Given the description of an element on the screen output the (x, y) to click on. 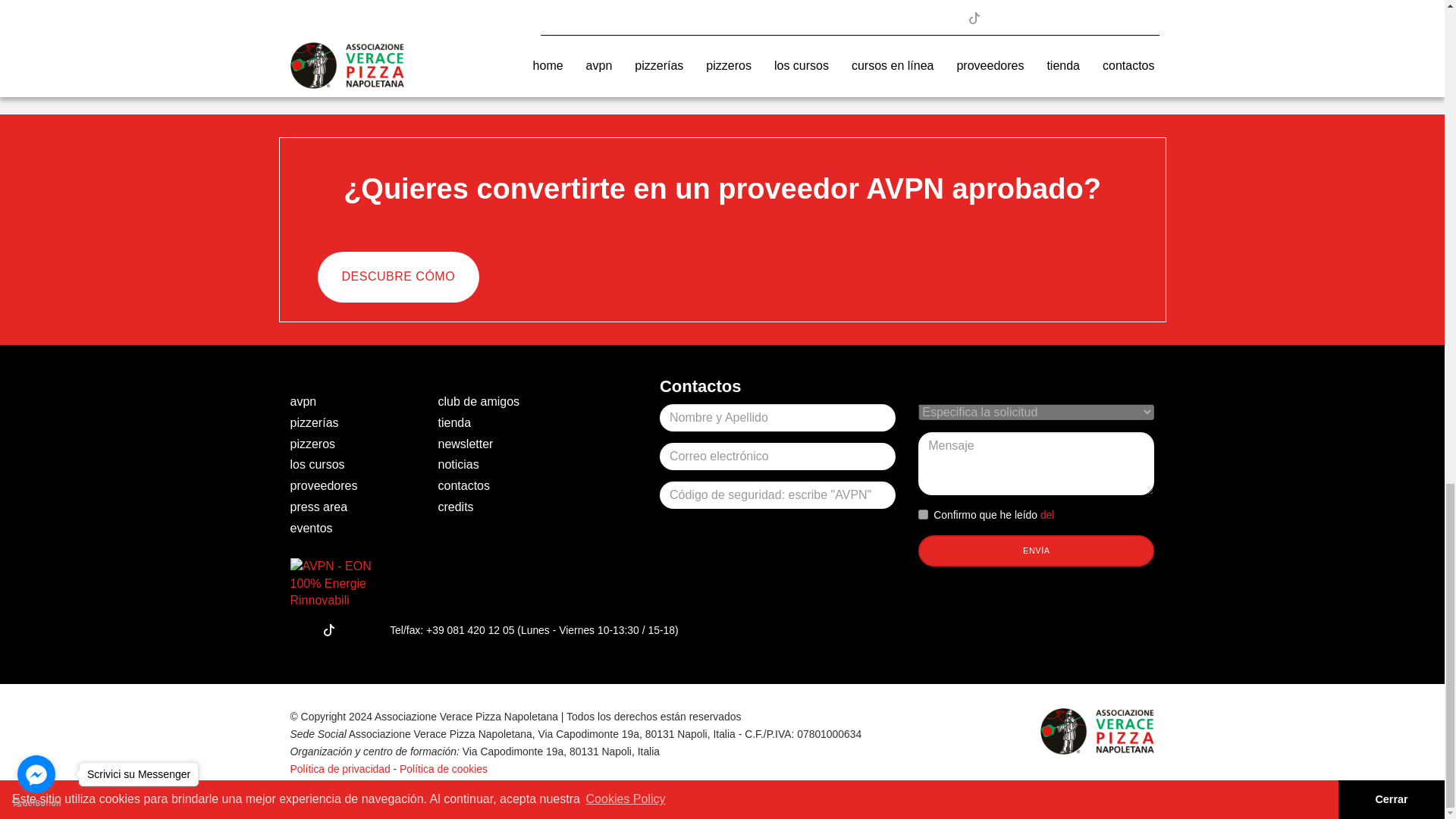
1 (923, 514)
